Given the description of an element on the screen output the (x, y) to click on. 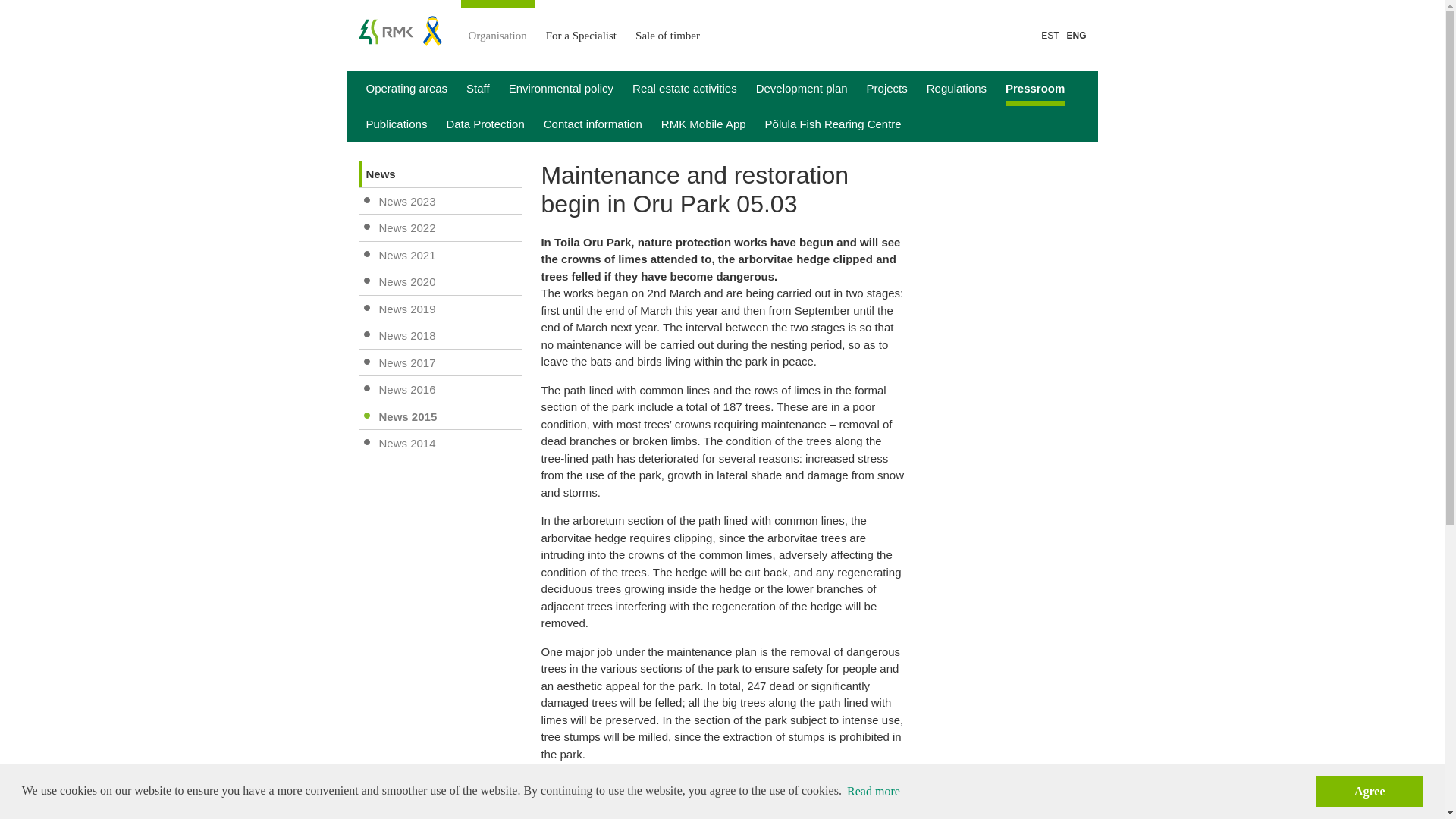
Sale of timber (667, 25)
ENG (1075, 35)
Agree (1369, 790)
EST (1049, 35)
For a Specialist (581, 25)
Read more (873, 790)
Organisation (497, 25)
RMK (399, 30)
Staff (477, 88)
Environmental policy (560, 88)
Operating areas (405, 88)
